Given the description of an element on the screen output the (x, y) to click on. 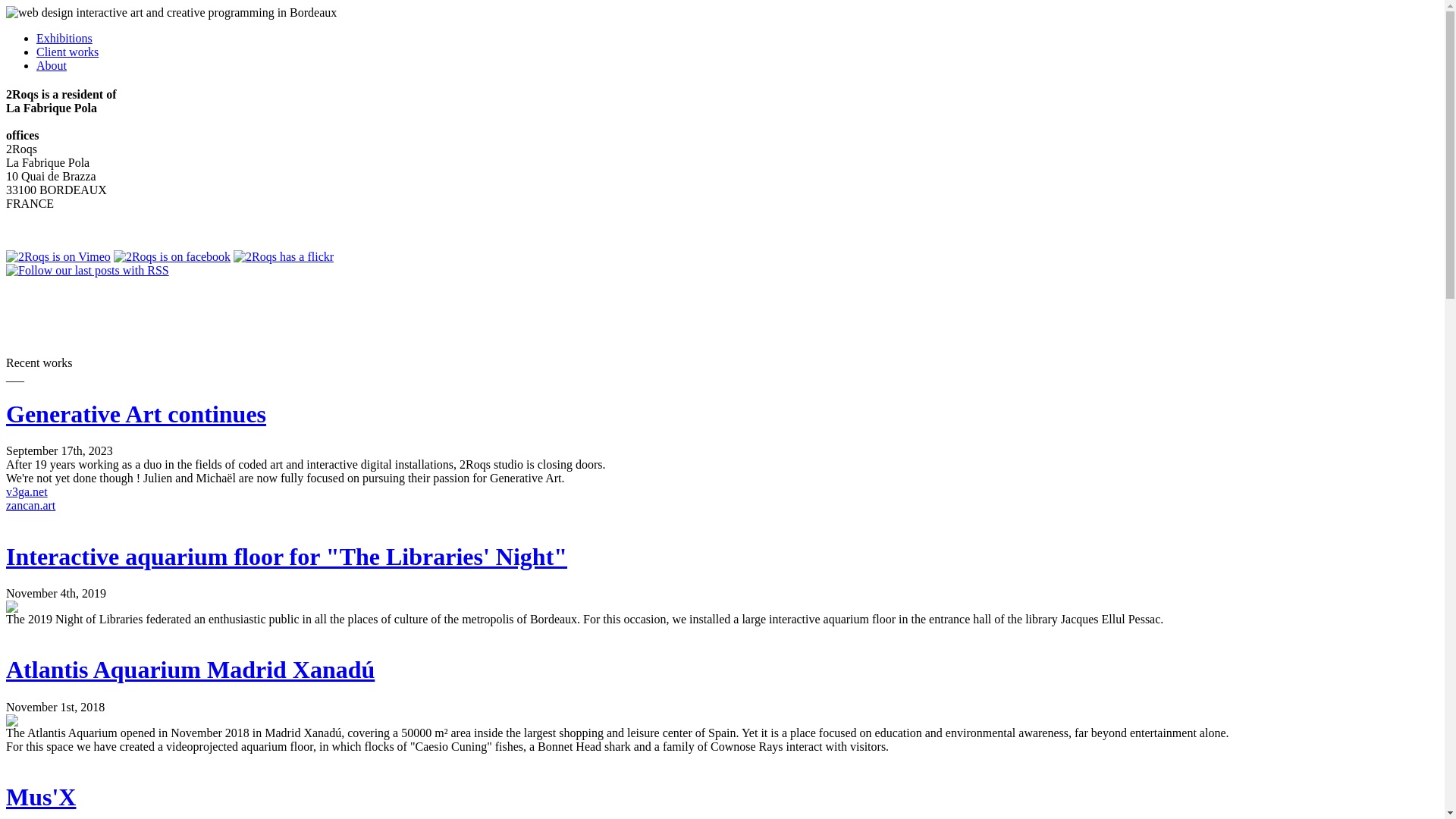
Follow our last posts with RSS Element type: hover (87, 269)
Generative Art continues Element type: text (136, 413)
v3ga.net Element type: text (26, 491)
2Roqs is on facebook Element type: hover (171, 256)
About Element type: text (51, 65)
Interactive aquarium floor for "The Libraries' Night" Element type: text (286, 556)
Mus'X Element type: text (40, 796)
zancan.art Element type: text (30, 504)
Exhibitions Element type: text (64, 37)
2Roqs is on Vimeo Element type: hover (58, 256)
2Roqs has a flickr Element type: hover (283, 256)
Client works Element type: text (67, 51)
